Given the description of an element on the screen output the (x, y) to click on. 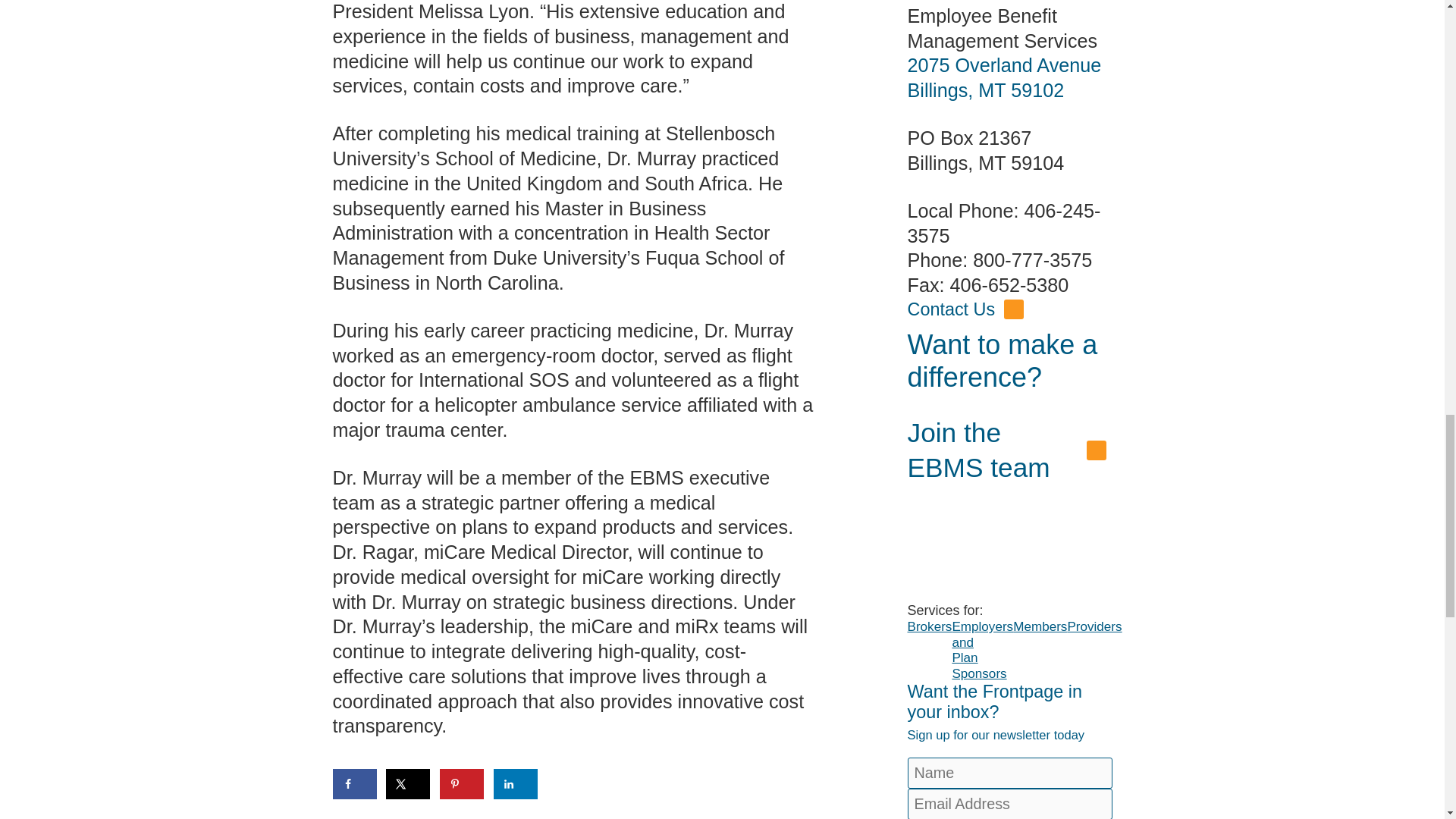
Share on LinkedIn (515, 784)
Save to Pinterest (461, 784)
Share on X (407, 784)
Share on Facebook (353, 784)
